Given the description of an element on the screen output the (x, y) to click on. 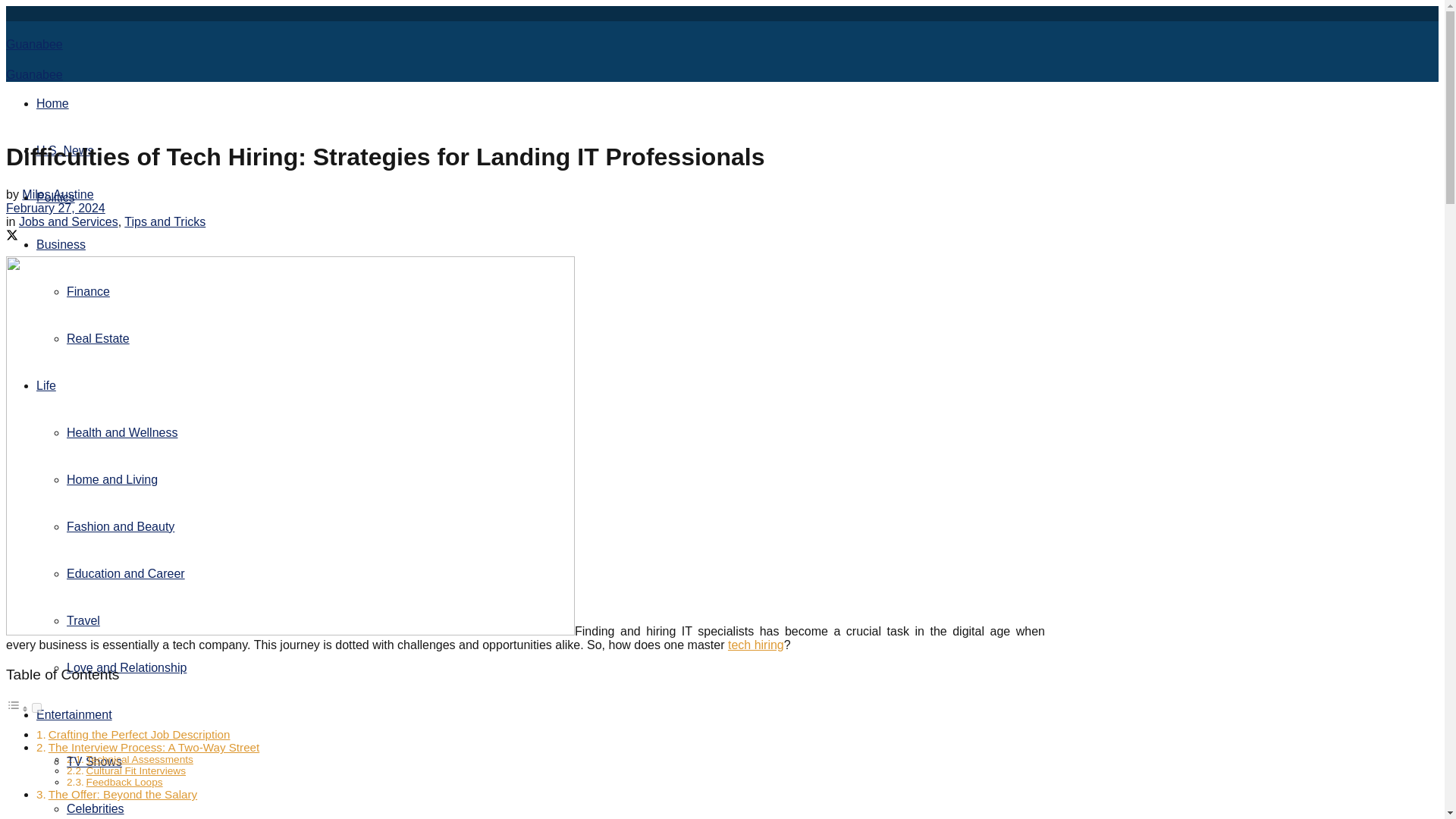
Miles Austine (57, 194)
Life (46, 385)
Politics (55, 196)
Crafting the Perfect Job Description (139, 734)
Business (60, 244)
The Interview Process: A Two-Way Street (154, 747)
Cultural Fit Interviews (135, 770)
Tips and Tricks (164, 221)
Technical Assessments (139, 758)
Real Estate (97, 338)
